Given the description of an element on the screen output the (x, y) to click on. 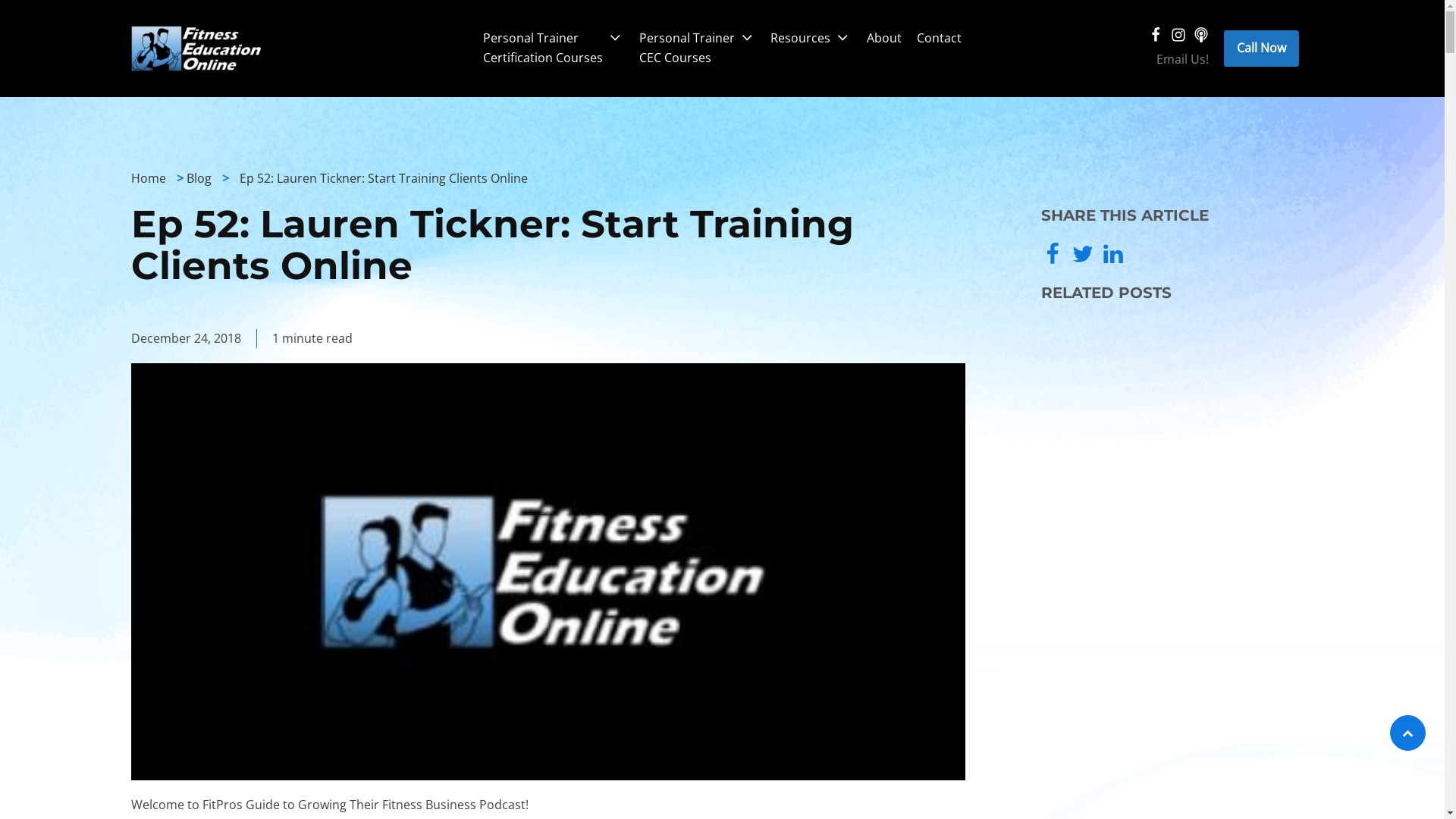
Email Us! Element type: text (1182, 59)
Contact Element type: text (939, 38)
Personal Trainer
Certification Courses Element type: text (552, 47)
Call Now Element type: text (1261, 48)
About Element type: text (884, 38)
Resources Element type: text (810, 38)
Blog Element type: text (198, 177)
Personal Trainer
CEC Courses Element type: text (696, 47)
Home Element type: text (147, 177)
